Given the description of an element on the screen output the (x, y) to click on. 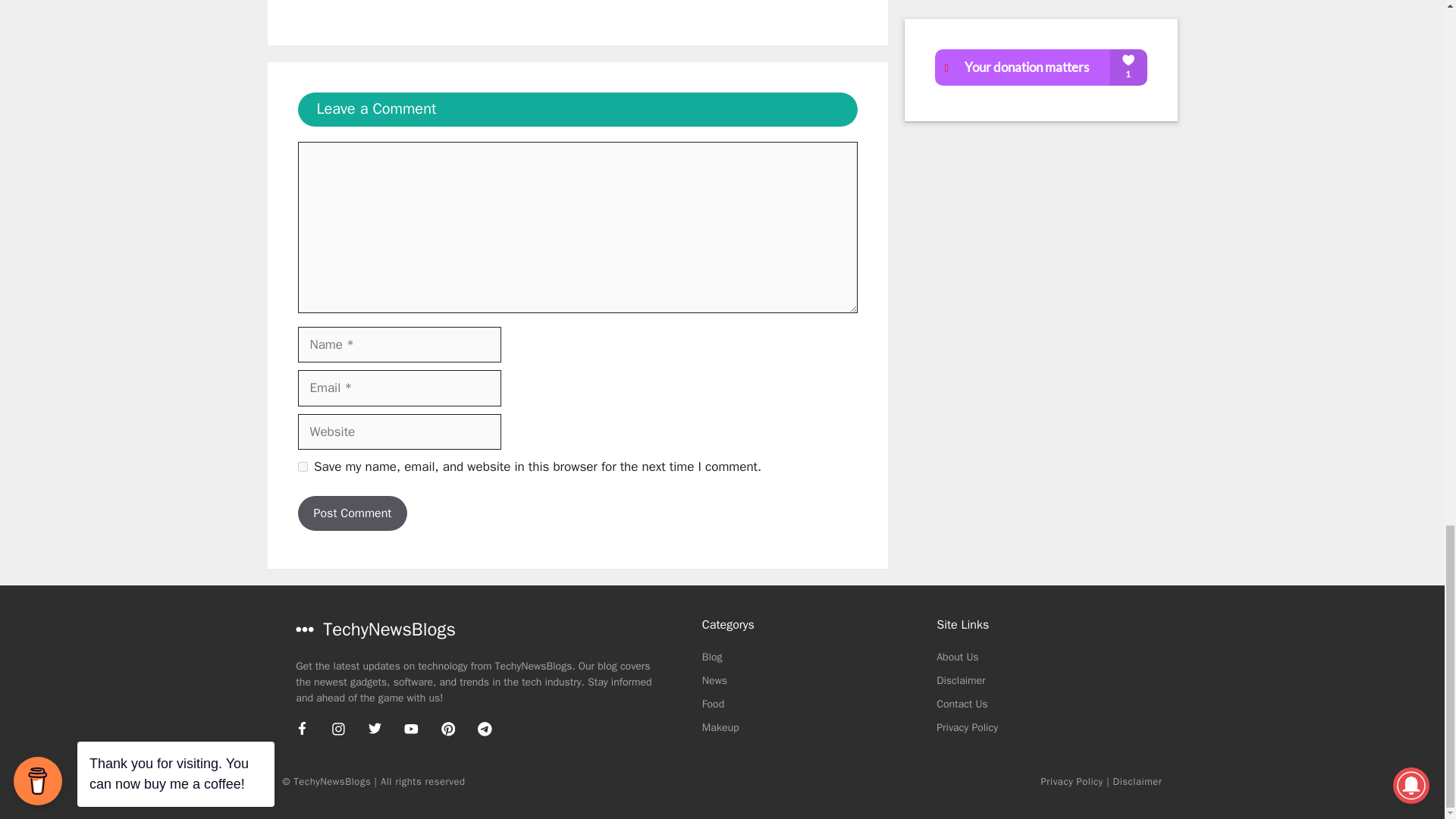
yes (302, 466)
Post Comment (352, 513)
Post Comment (352, 513)
